Given the description of an element on the screen output the (x, y) to click on. 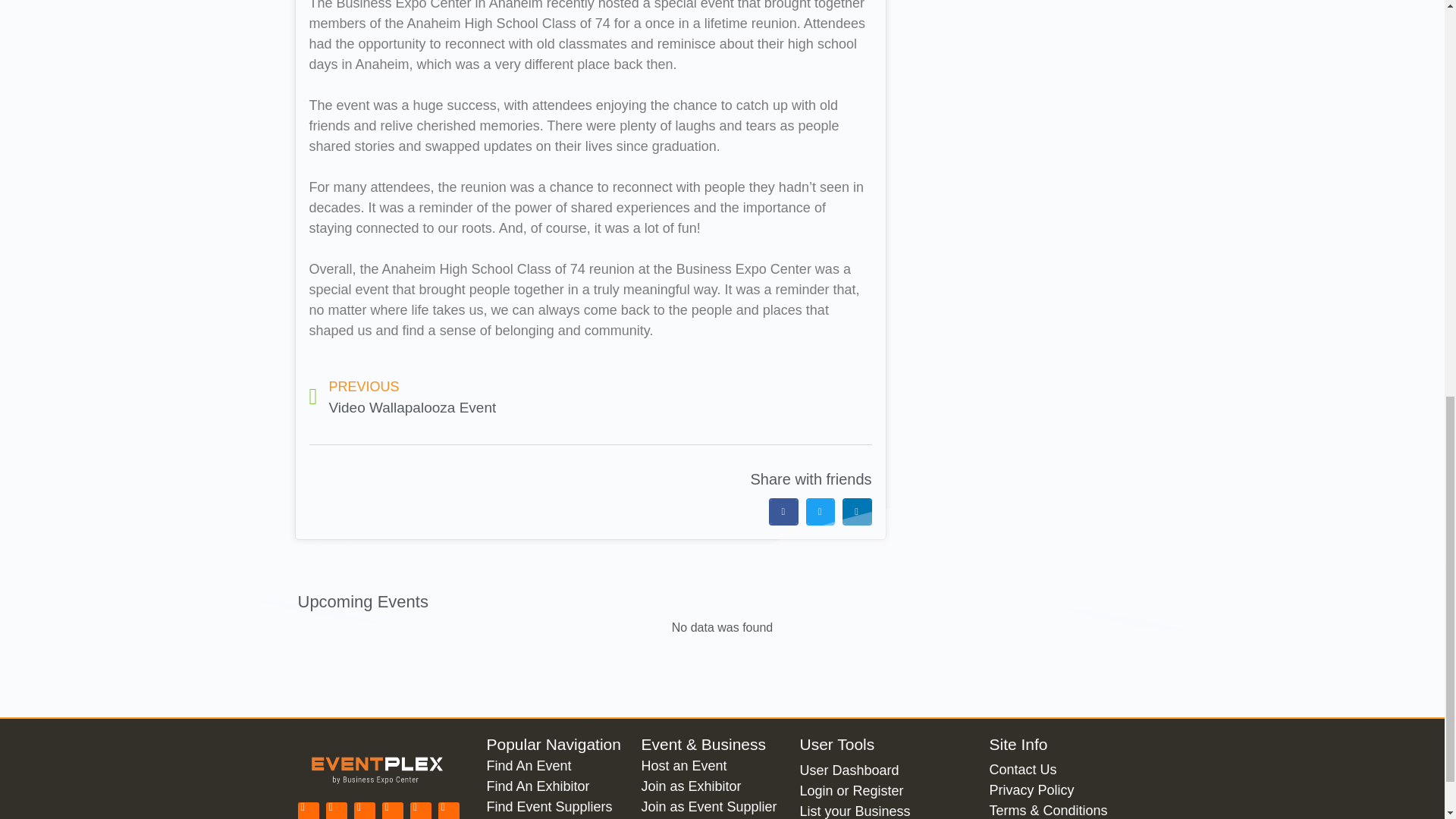
Find An Event (556, 765)
Host an Event (712, 765)
Find An Exhibitor (556, 786)
Find Event Suppliers (556, 806)
